Given the description of an element on the screen output the (x, y) to click on. 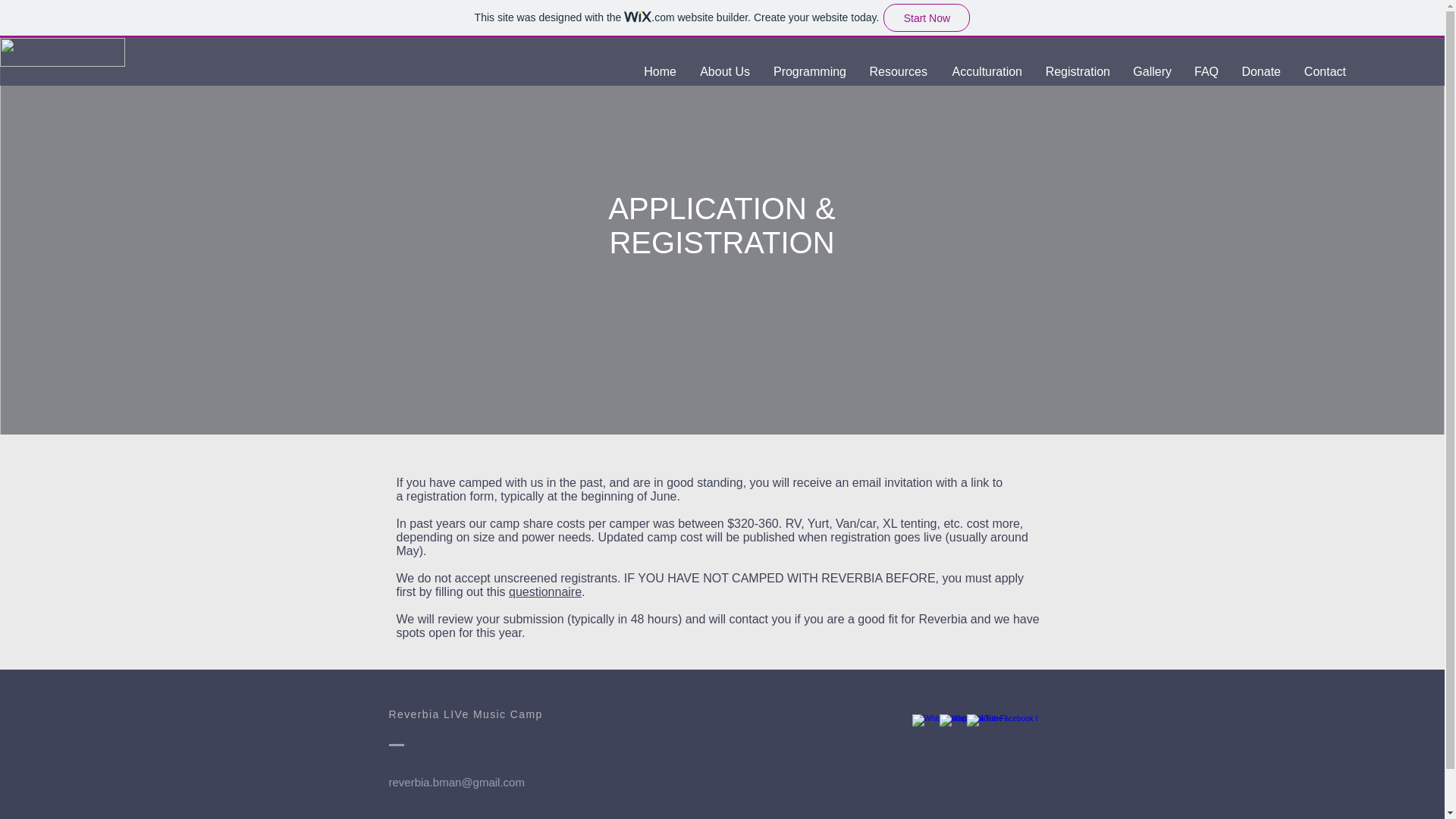
FAQ (1206, 71)
Programming (809, 71)
Gallery (1151, 71)
Contact (1324, 71)
About Us (724, 71)
Resources (898, 71)
Donate (1261, 71)
Acculturation (986, 71)
Registration (1077, 71)
Home (659, 71)
